Given the description of an element on the screen output the (x, y) to click on. 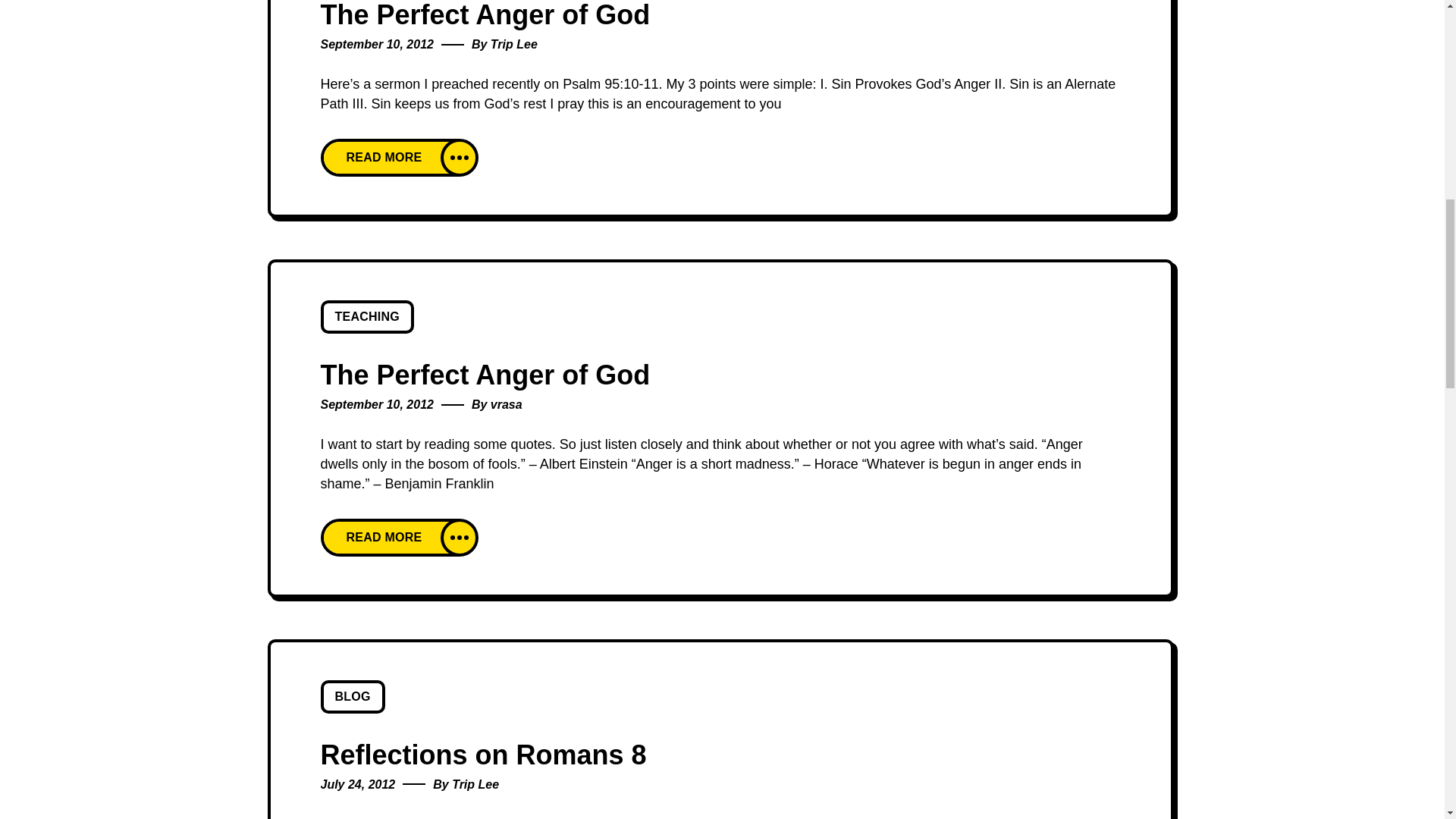
Mute (1338, 44)
Trip Lee (513, 43)
READ MORE (398, 157)
The Perfect Anger of God (484, 374)
vrasa (506, 404)
TEACHING (366, 316)
The Perfect Anger of God (484, 15)
